Given the description of an element on the screen output the (x, y) to click on. 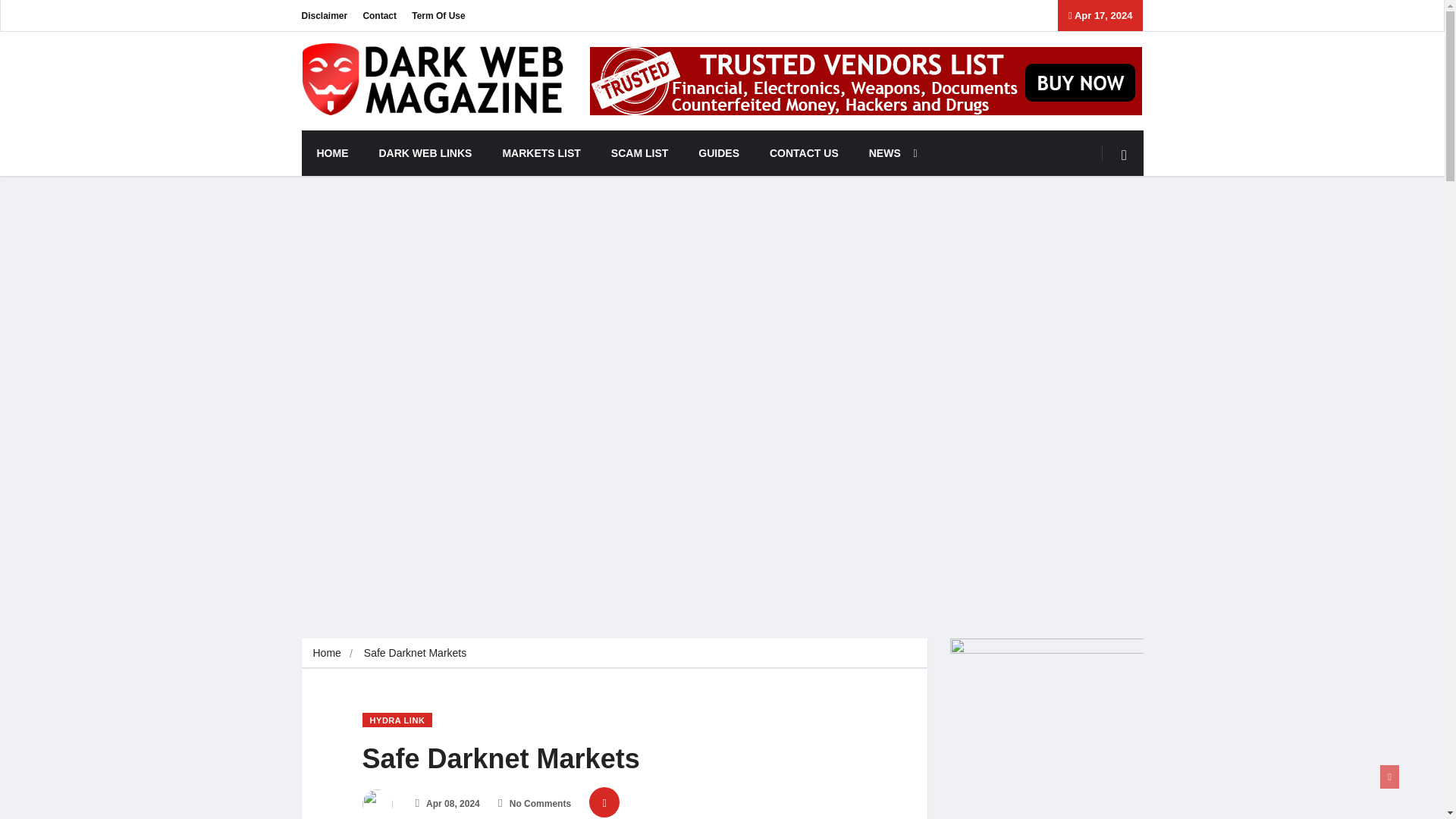
DARK WEB LINKS (425, 153)
Disclaimer (324, 15)
HOME (332, 153)
NEWS (888, 153)
GUIDES (718, 153)
MARKETS LIST (540, 153)
Contact (379, 15)
Term Of Use (438, 15)
CONTACT US (803, 153)
HYDRA LINK (397, 719)
SCAM LIST (638, 153)
Home (326, 653)
